Given the description of an element on the screen output the (x, y) to click on. 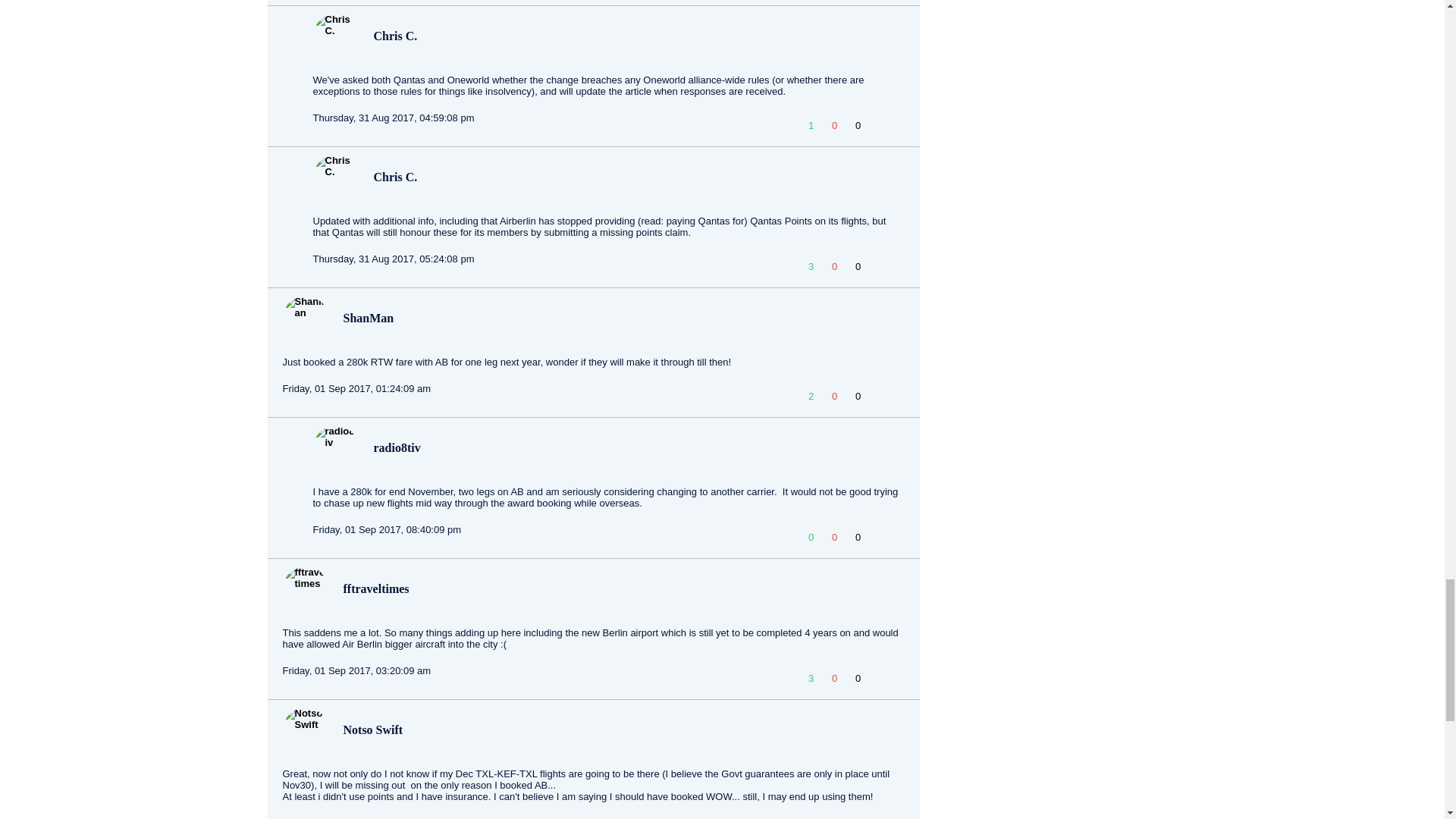
Dislike (834, 125)
Like (810, 125)
